Given the description of an element on the screen output the (x, y) to click on. 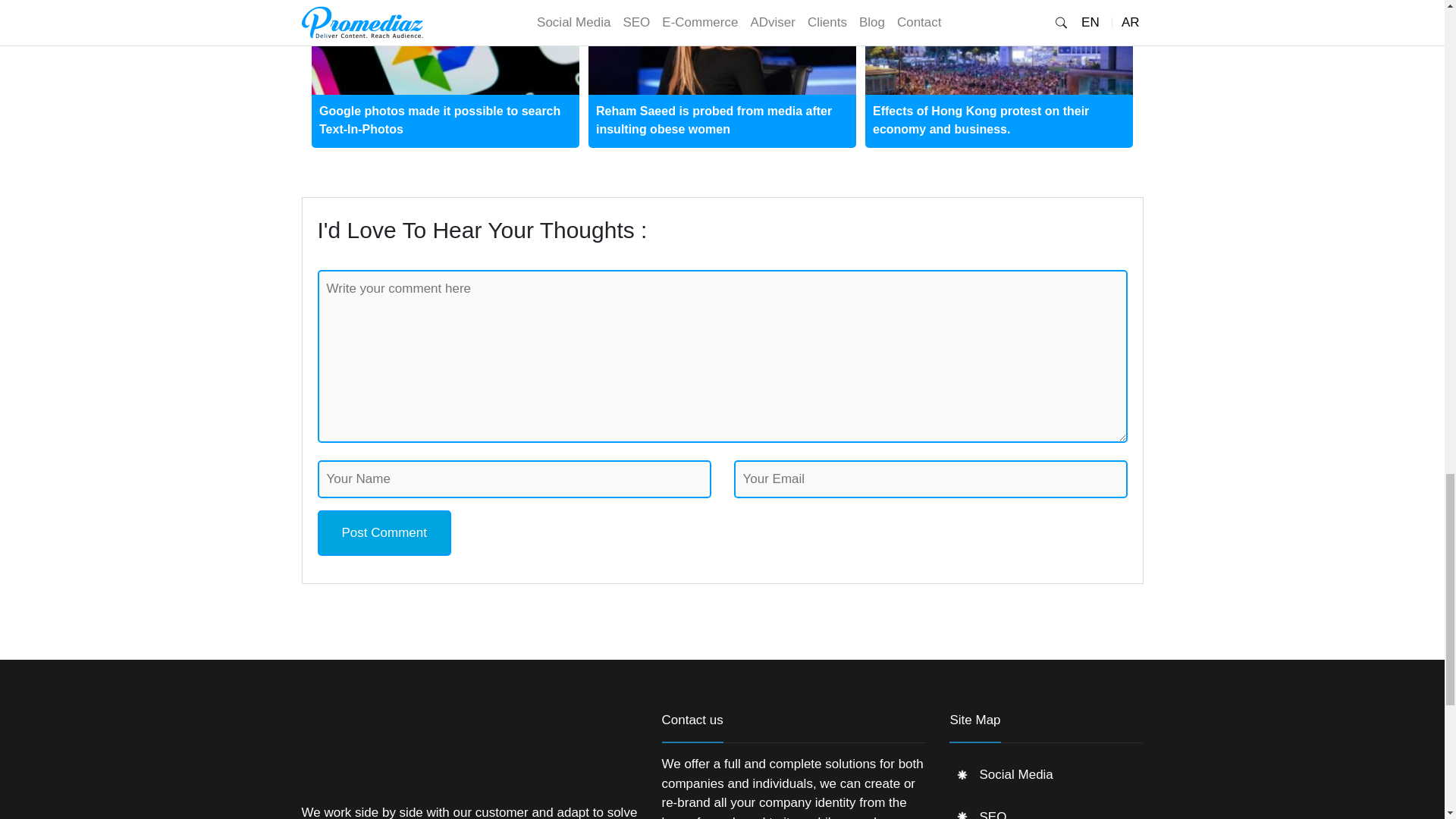
Post Comment (383, 533)
